Given the description of an element on the screen output the (x, y) to click on. 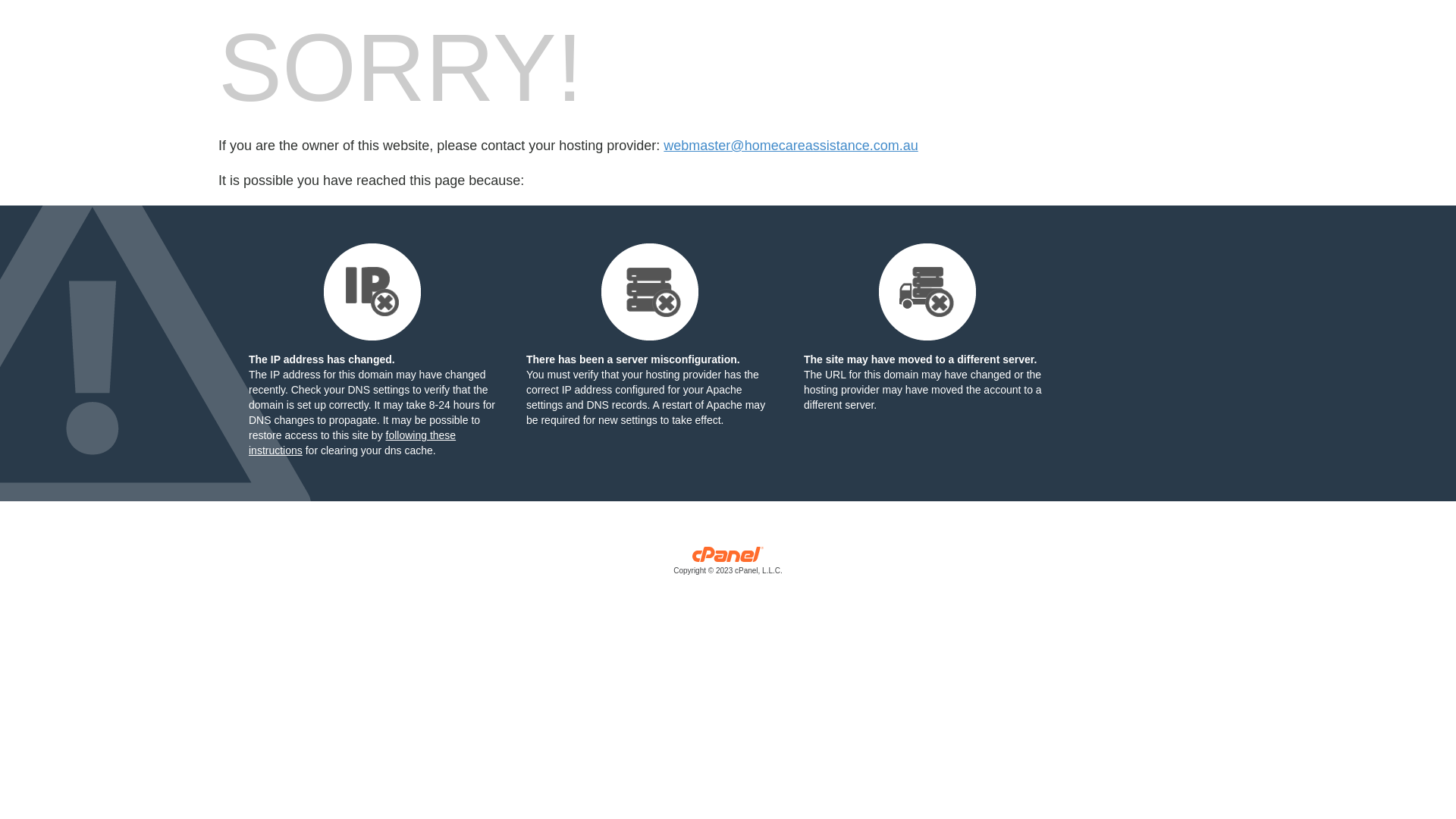
following these instructions Element type: text (351, 442)
webmaster@homecareassistance.com.au Element type: text (790, 145)
